Given the description of an element on the screen output the (x, y) to click on. 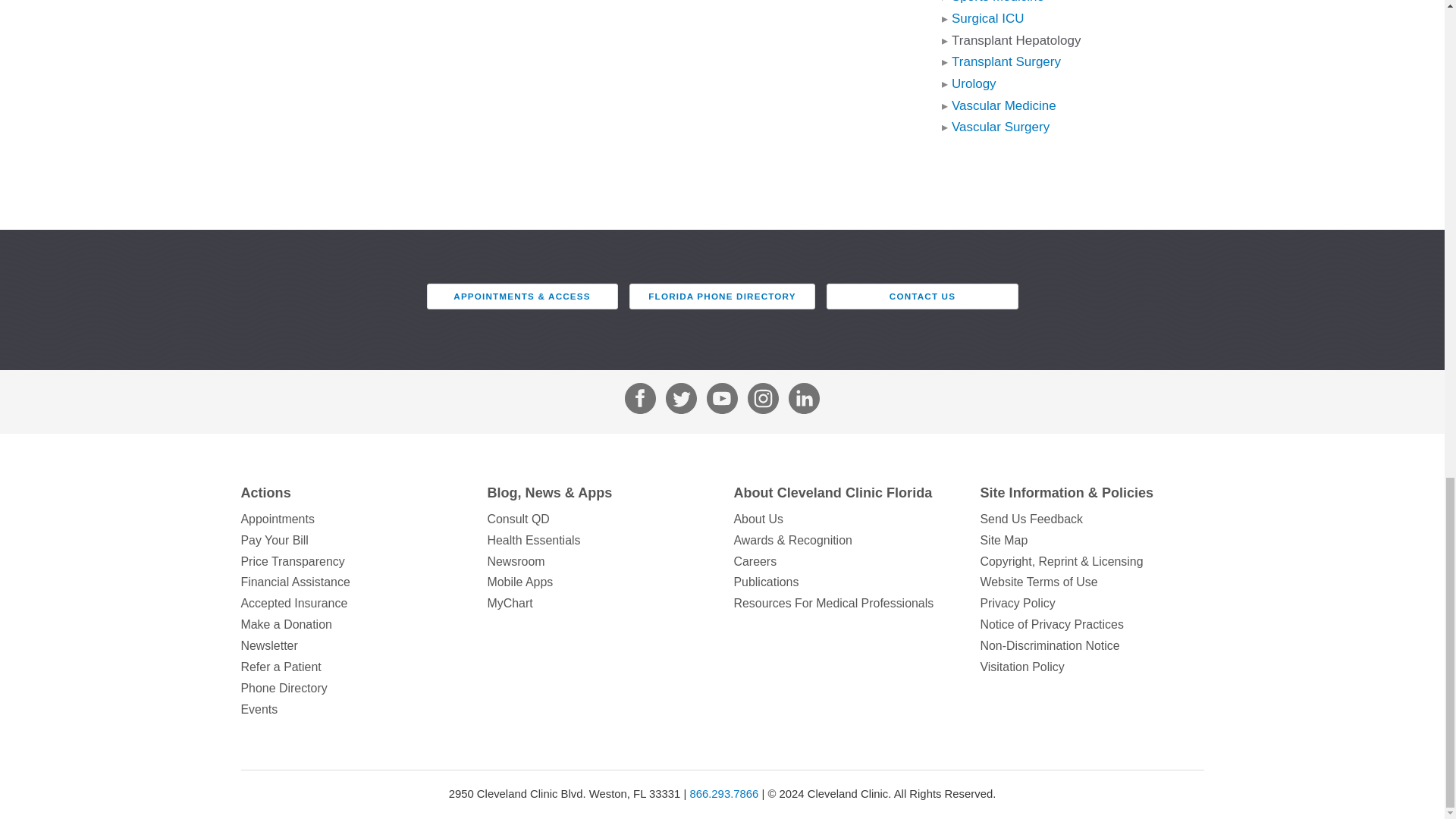
Health Essentials (598, 540)
Send Us Feedback (1091, 519)
Consult QD (598, 519)
Price Transparency (352, 561)
Mobile Apps (598, 582)
